Given the description of an element on the screen output the (x, y) to click on. 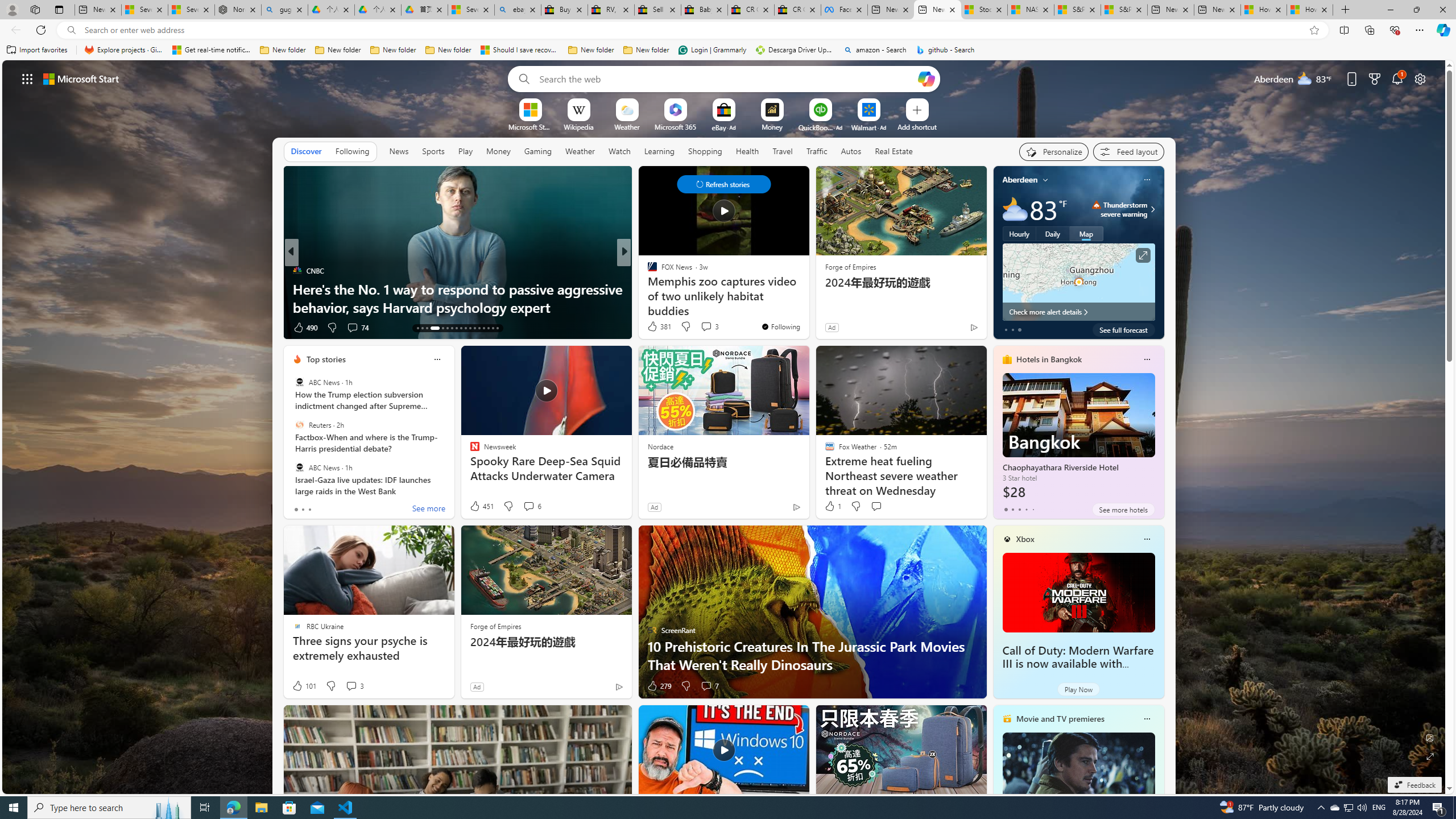
View comments 23 Comment (6, 327)
Play (465, 151)
